Given the description of an element on the screen output the (x, y) to click on. 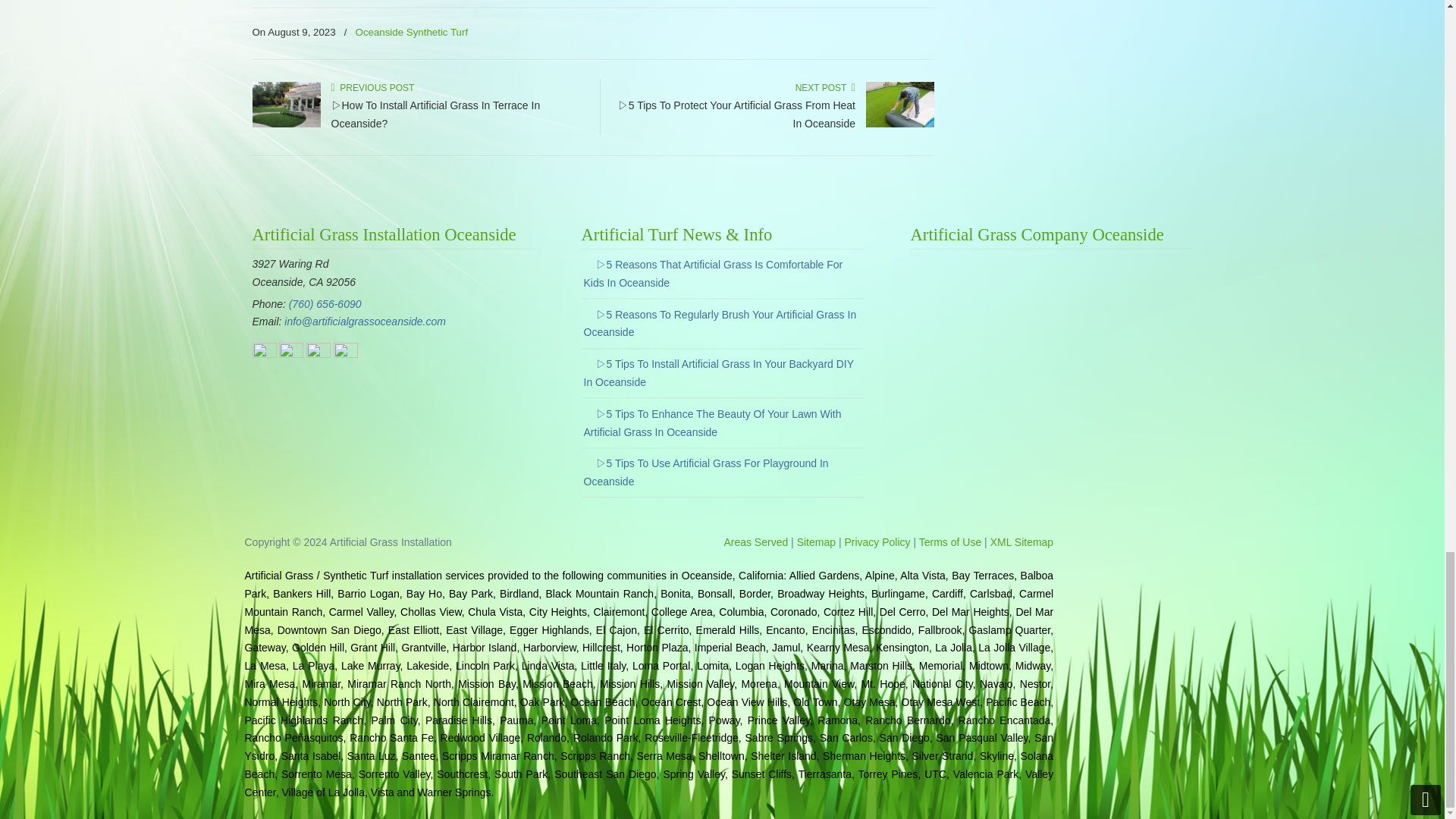
Yelp (317, 354)
Go to next post (825, 87)
 PREVIOUS POST (371, 87)
Phone (324, 304)
Oceanside Synthetic Turf (411, 32)
Go to previous post (371, 87)
NEXT POST   (825, 87)
Facebook (263, 354)
